Given the description of an element on the screen output the (x, y) to click on. 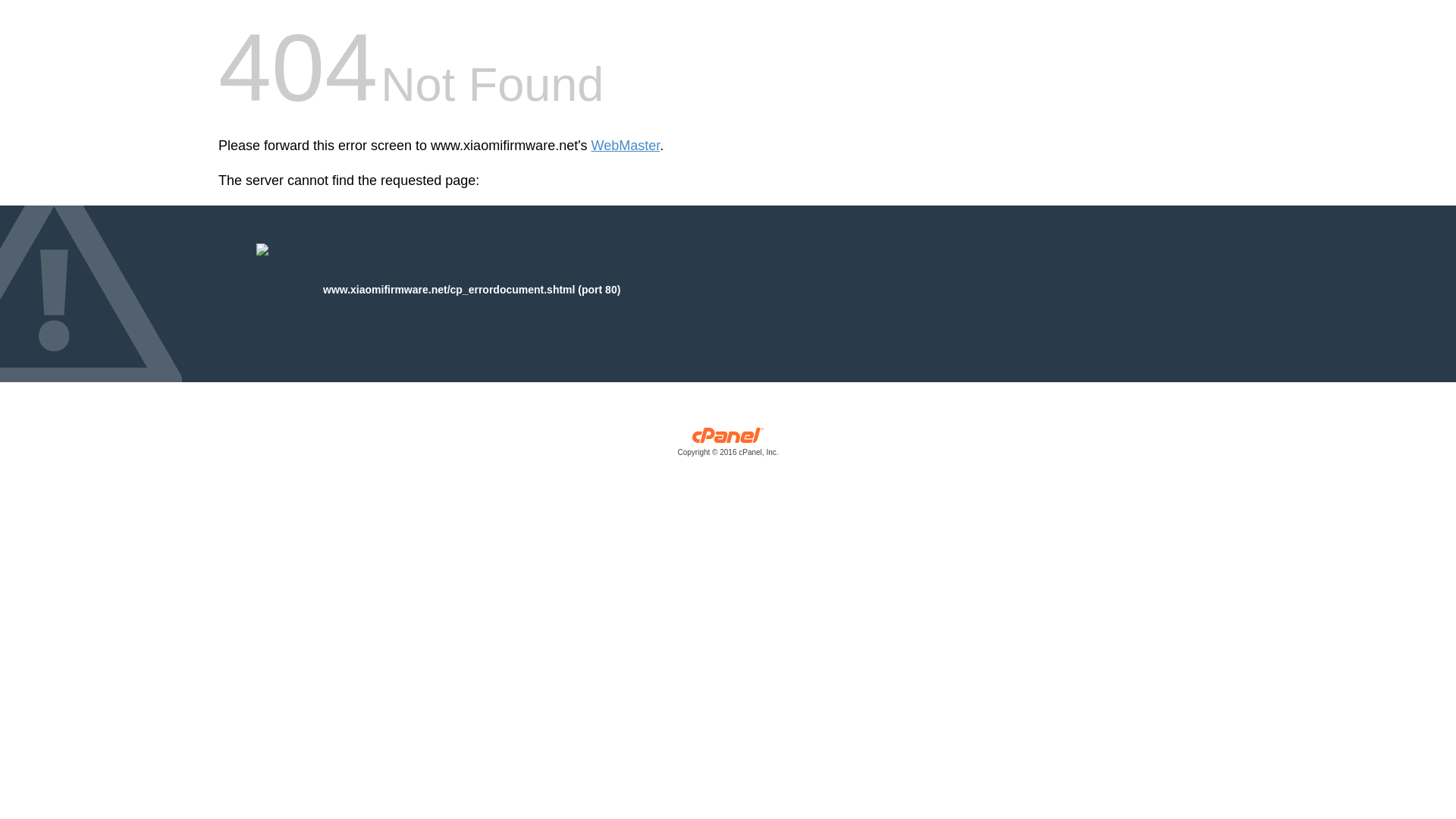
cPanel, Inc. (727, 445)
WebMaster (626, 145)
